Given the description of an element on the screen output the (x, y) to click on. 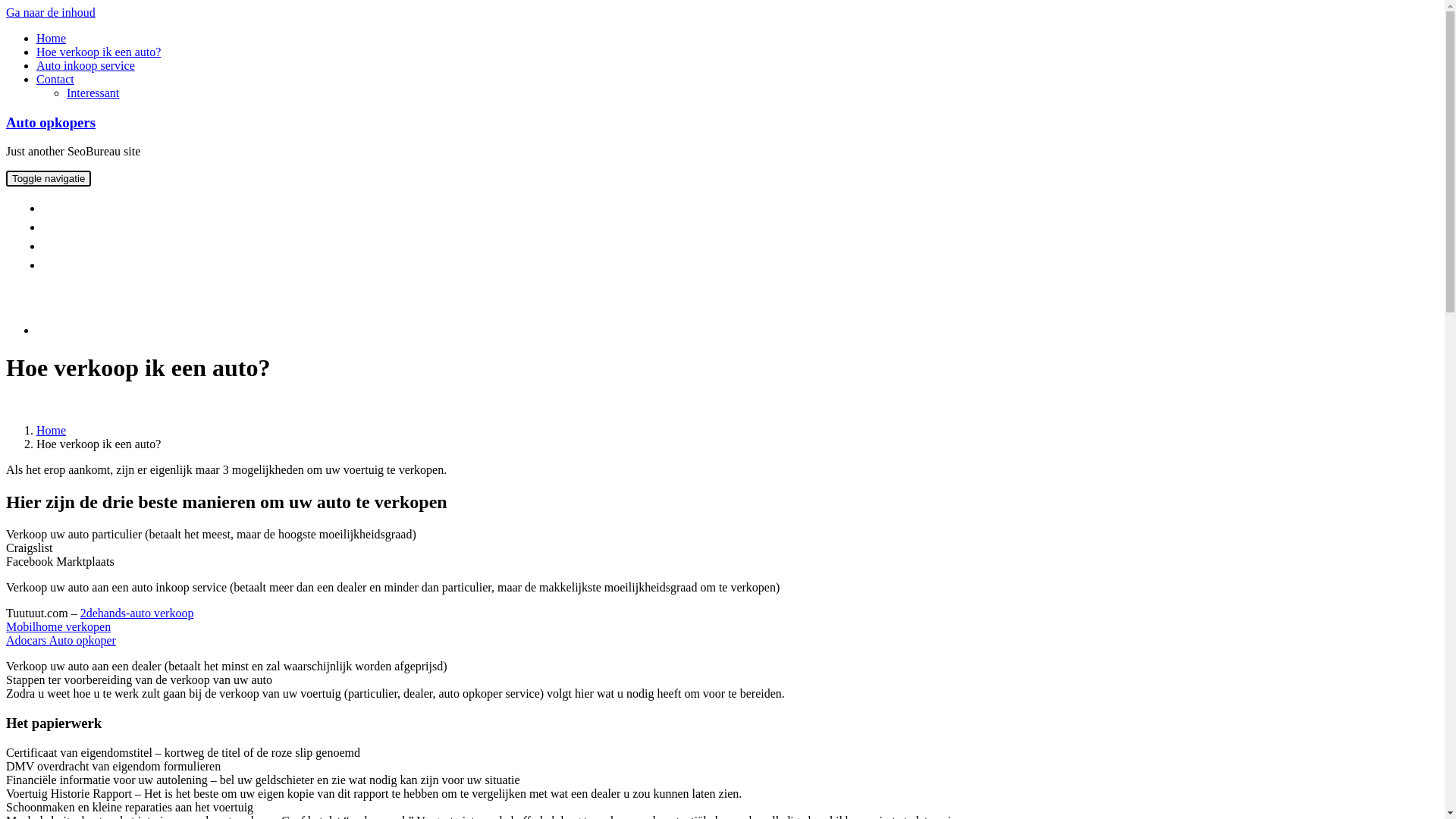
Contact Element type: text (55, 78)
Hoe verkoop ik een auto? Element type: text (98, 51)
Home Element type: text (50, 37)
Auto inkoop service Element type: text (85, 65)
Interessant Element type: text (92, 92)
Mobilhome verkopen Element type: text (58, 626)
Auto opkopers Element type: text (50, 122)
CONTACT Element type: text (78, 264)
AUTO INKOOP SERVICE Element type: text (116, 245)
Adocars Auto opkoper Element type: text (61, 639)
Toggle navigatie Element type: text (48, 178)
2dehands-auto verkoop Element type: text (137, 612)
HOE VERKOOP IK EEN AUTO? Element type: text (133, 226)
Home Element type: text (50, 429)
HOME Element type: text (68, 207)
Ga naar de inhoud Element type: text (50, 12)
